Given the description of an element on the screen output the (x, y) to click on. 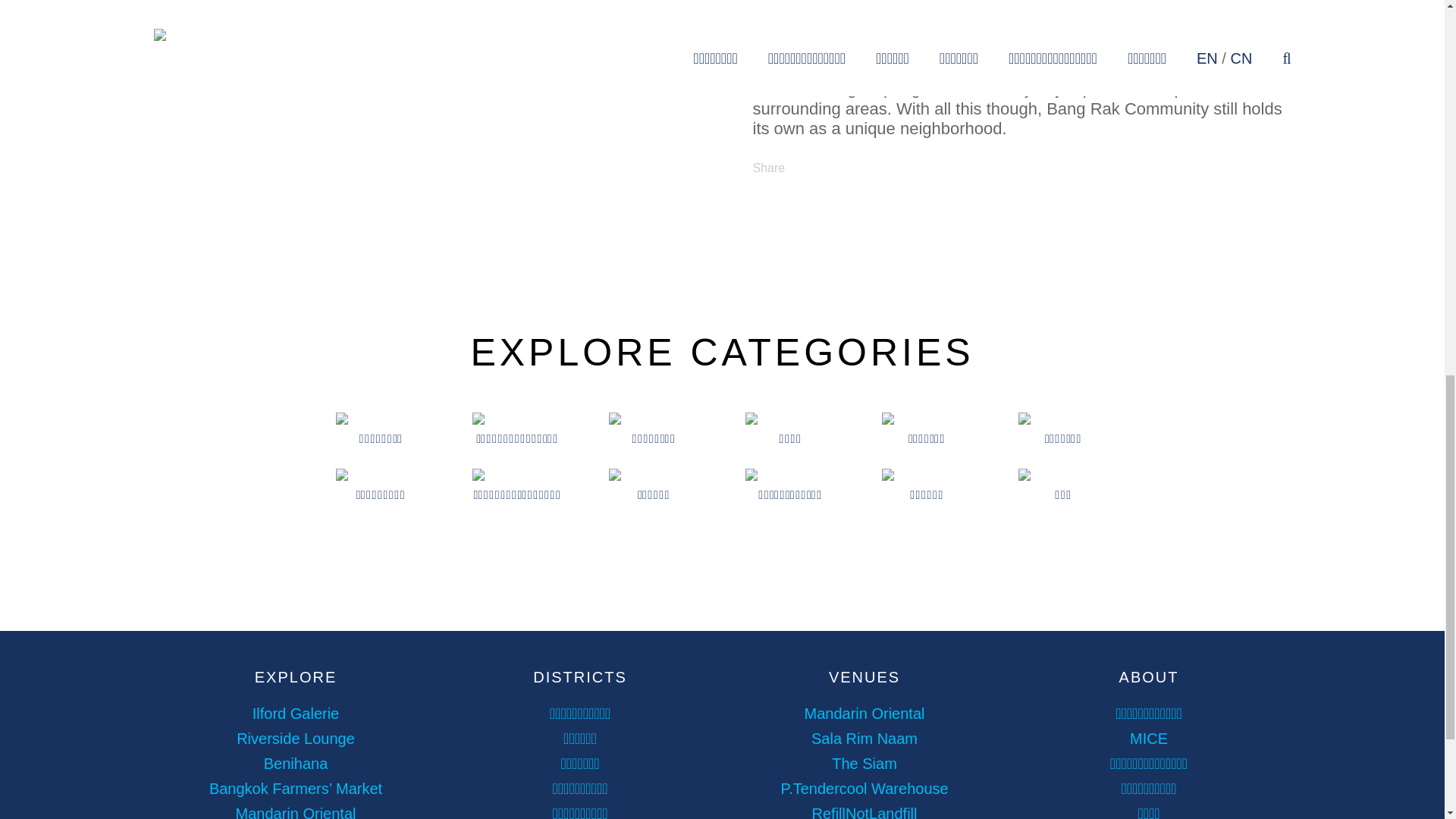
ICONSIAM (1204, 67)
Email (765, 192)
Creative District (1006, 37)
Twitter (797, 192)
Facebook (829, 192)
